Given the description of an element on the screen output the (x, y) to click on. 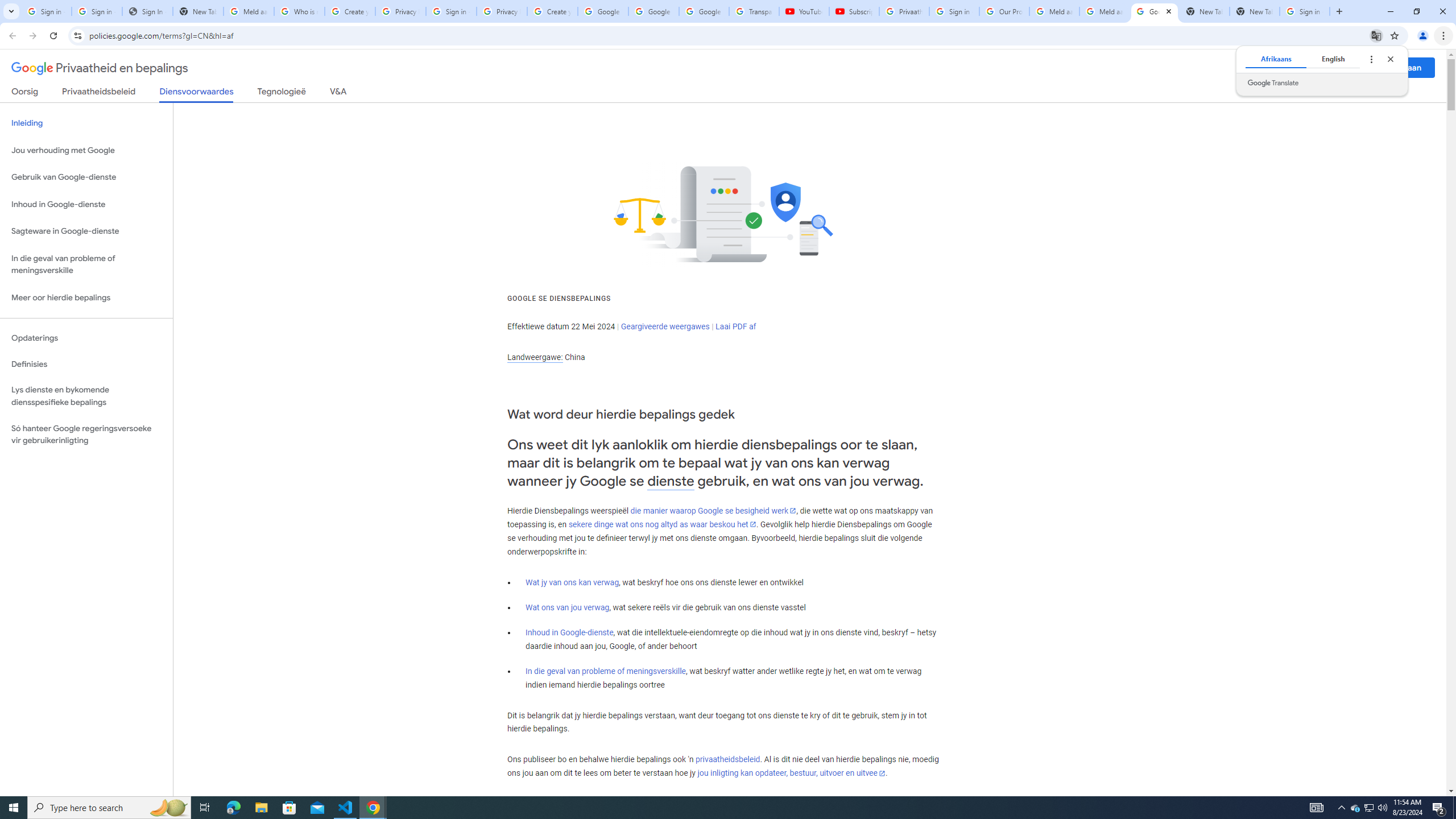
Sign in - Google Accounts (954, 11)
Sign In - USA TODAY (146, 11)
YouTube (804, 11)
Translate options (1370, 58)
Sign in - Google Accounts (1304, 11)
Diensvoorwaardes (196, 94)
Landweergawe: (534, 357)
English (1332, 58)
New Tab (1254, 11)
Privaatheidsbeleid (98, 93)
